Given the description of an element on the screen output the (x, y) to click on. 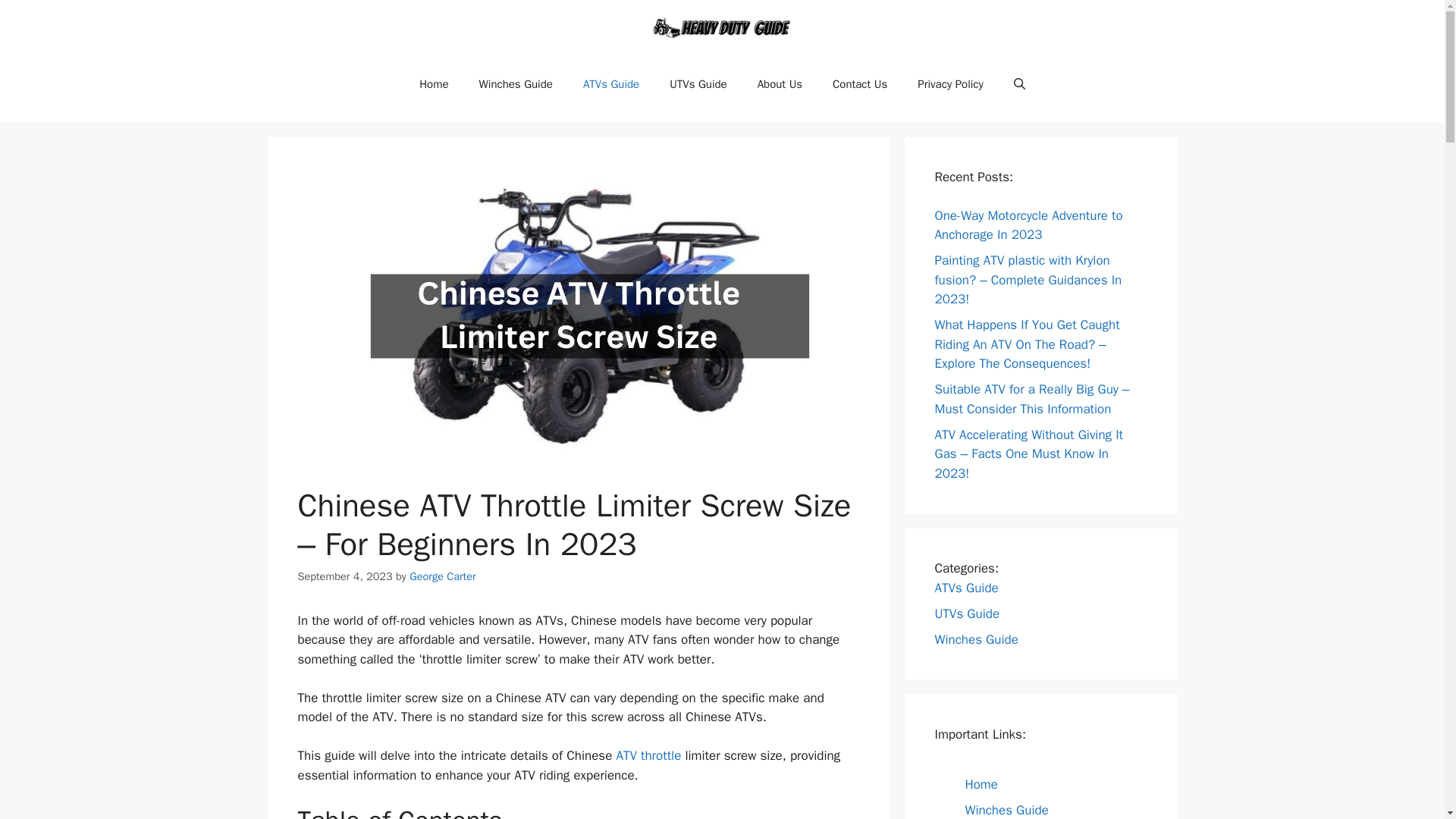
One-Way Motorcycle Adventure to Anchorage In 2023 (1028, 225)
ATVs Guide (610, 84)
Home (433, 84)
ATV throttle (648, 755)
UTVs Guide (697, 84)
View all posts by George Carter (442, 576)
Winches Guide (515, 84)
Privacy Policy (950, 84)
About Us (779, 84)
George Carter (442, 576)
Contact Us (859, 84)
